Given the description of an element on the screen output the (x, y) to click on. 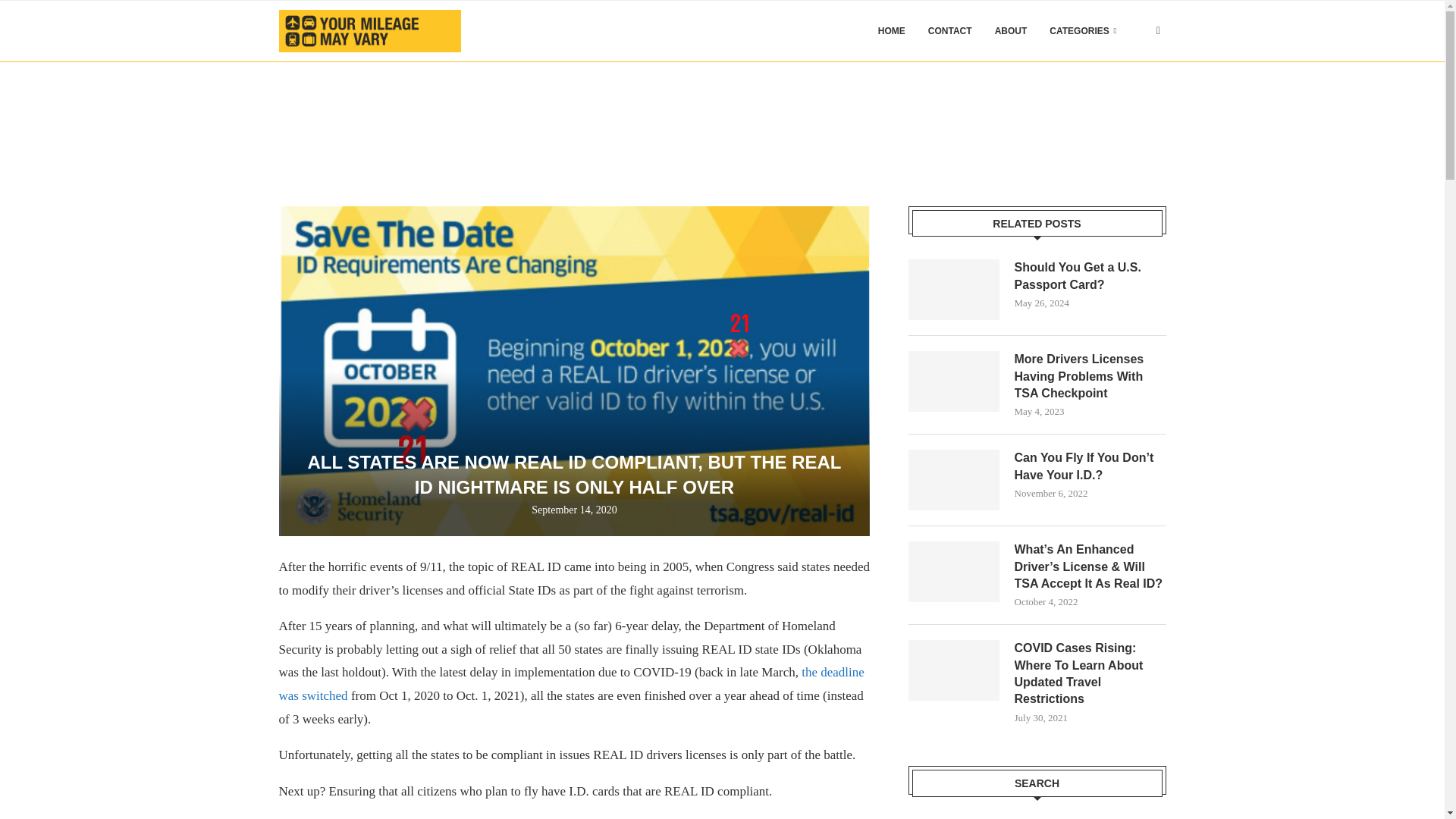
Should You Get a U.S. Passport Card? (1090, 276)
More Drivers Licenses Having Problems With TSA Checkpoint (953, 381)
CATEGORIES (1082, 30)
More Drivers Licenses Having Problems With TSA Checkpoint (1090, 376)
the deadline was switched (571, 683)
Should You Get a U.S. Passport Card? (953, 289)
